Given the description of an element on the screen output the (x, y) to click on. 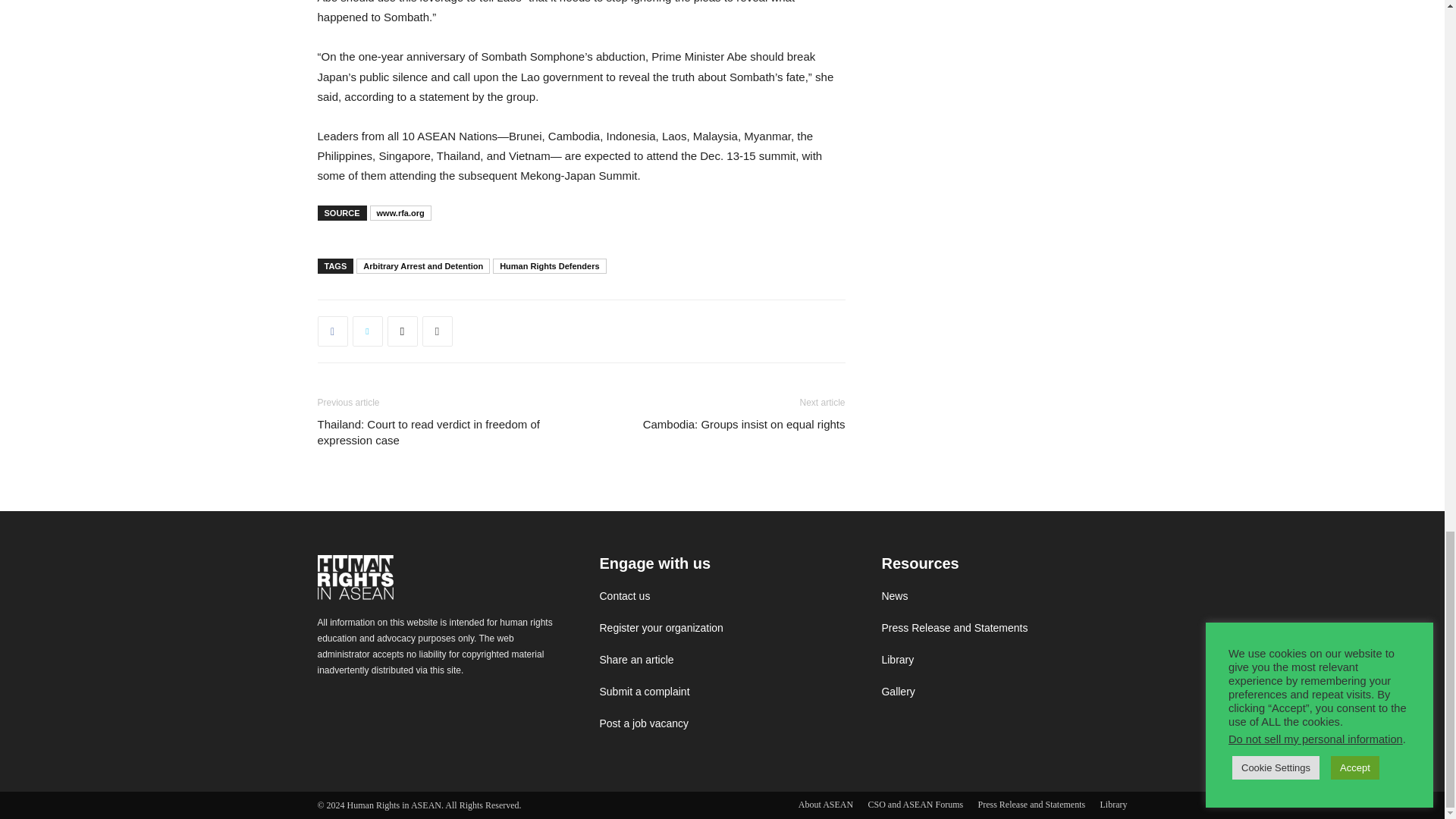
www.rfa.org (399, 212)
